Given the description of an element on the screen output the (x, y) to click on. 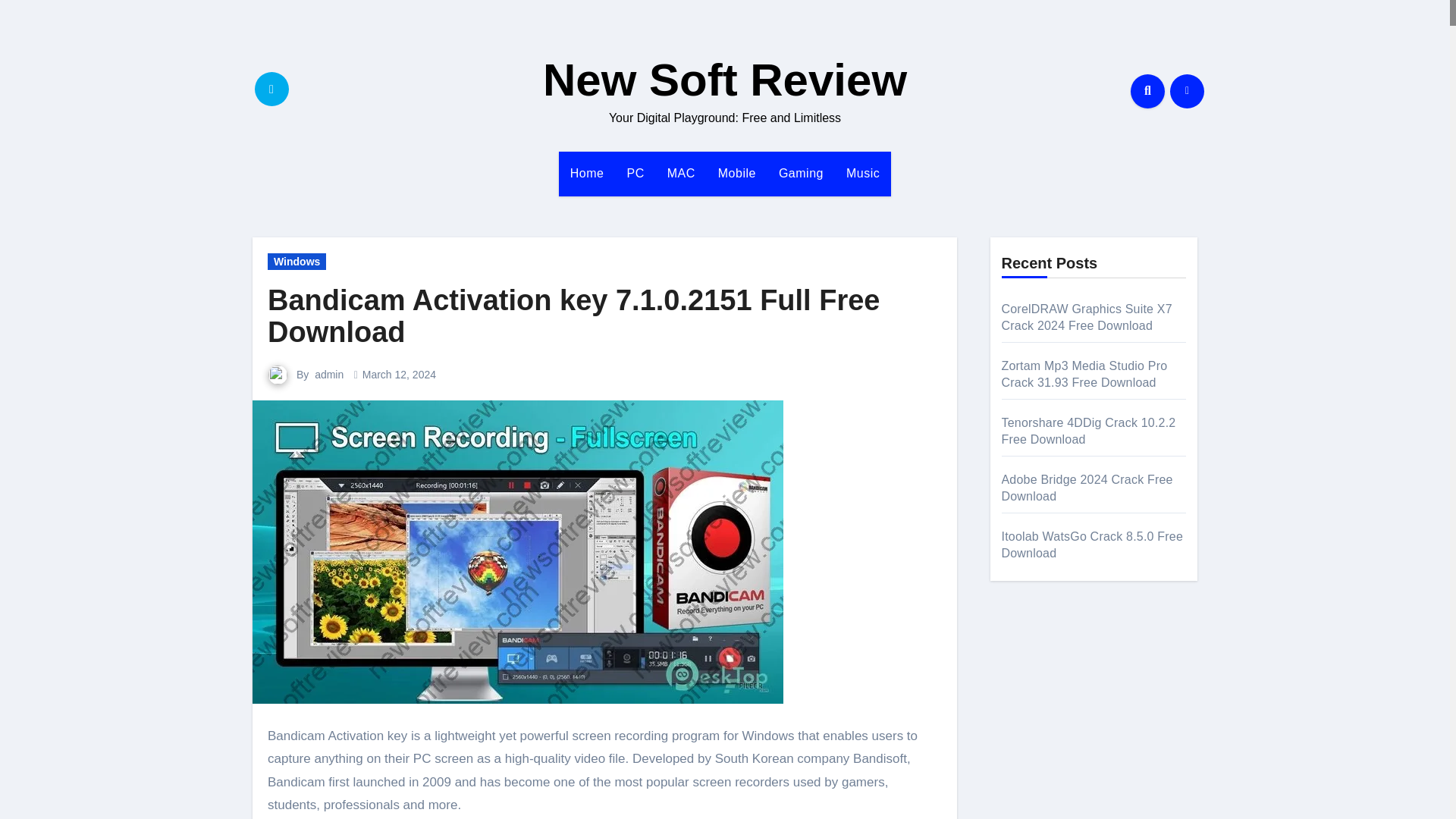
MAC (681, 173)
Gaming (800, 173)
MAC (681, 173)
Music (862, 173)
Windows (296, 261)
admin (328, 374)
Mobile (736, 173)
PC (634, 173)
March 12, 2024 (398, 374)
